Given the description of an element on the screen output the (x, y) to click on. 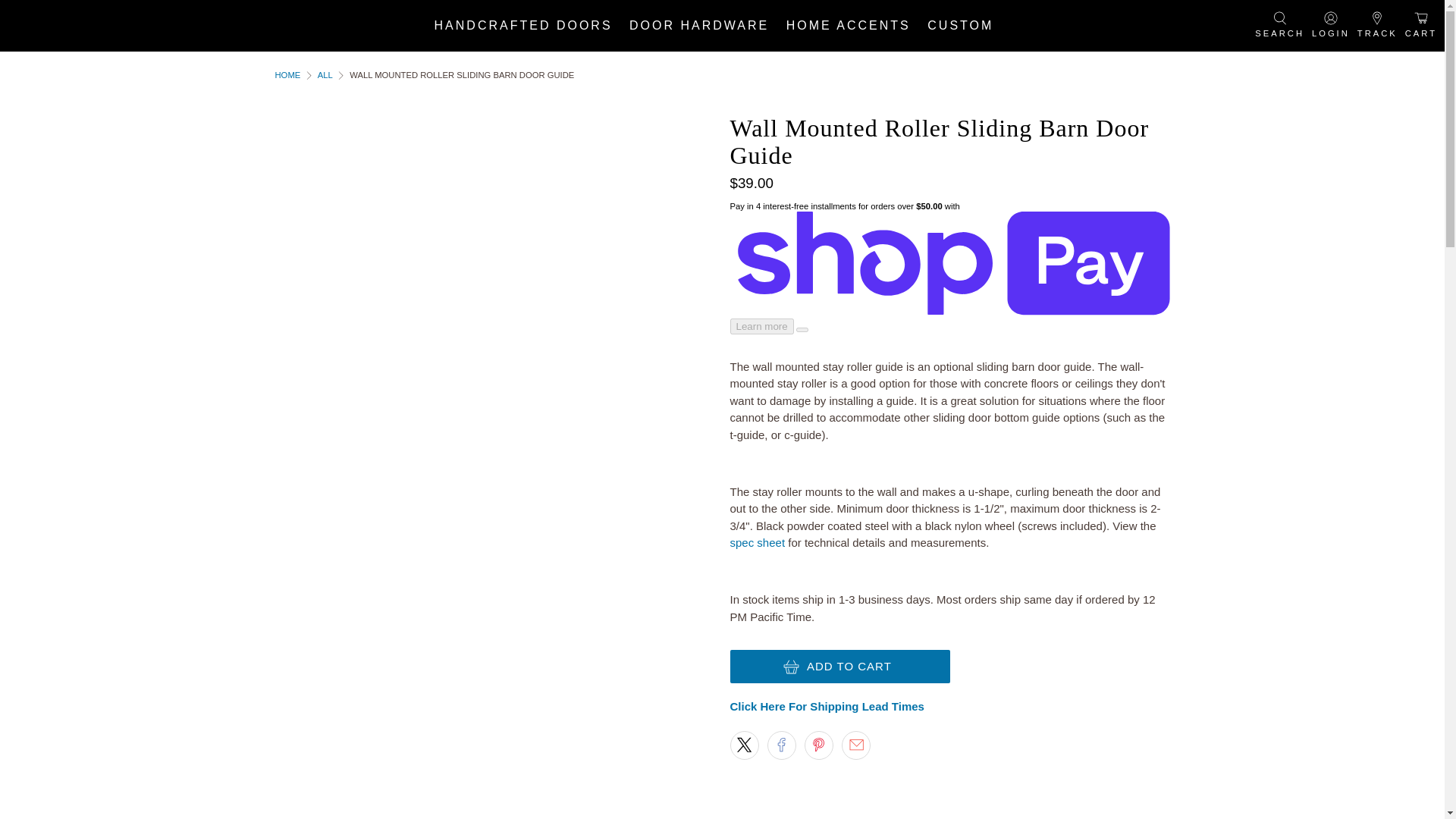
Email this to a friend (855, 745)
CUSTOM (960, 24)
Share this on Pinterest (818, 745)
TRACK (1377, 25)
Share this on Facebook (781, 745)
SEARCH (1278, 25)
CART (1421, 25)
Wall Mounted Roller Guide Specifications (756, 542)
HANDCRAFTED DOORS (523, 24)
DOOR HARDWARE (699, 24)
